Given the description of an element on the screen output the (x, y) to click on. 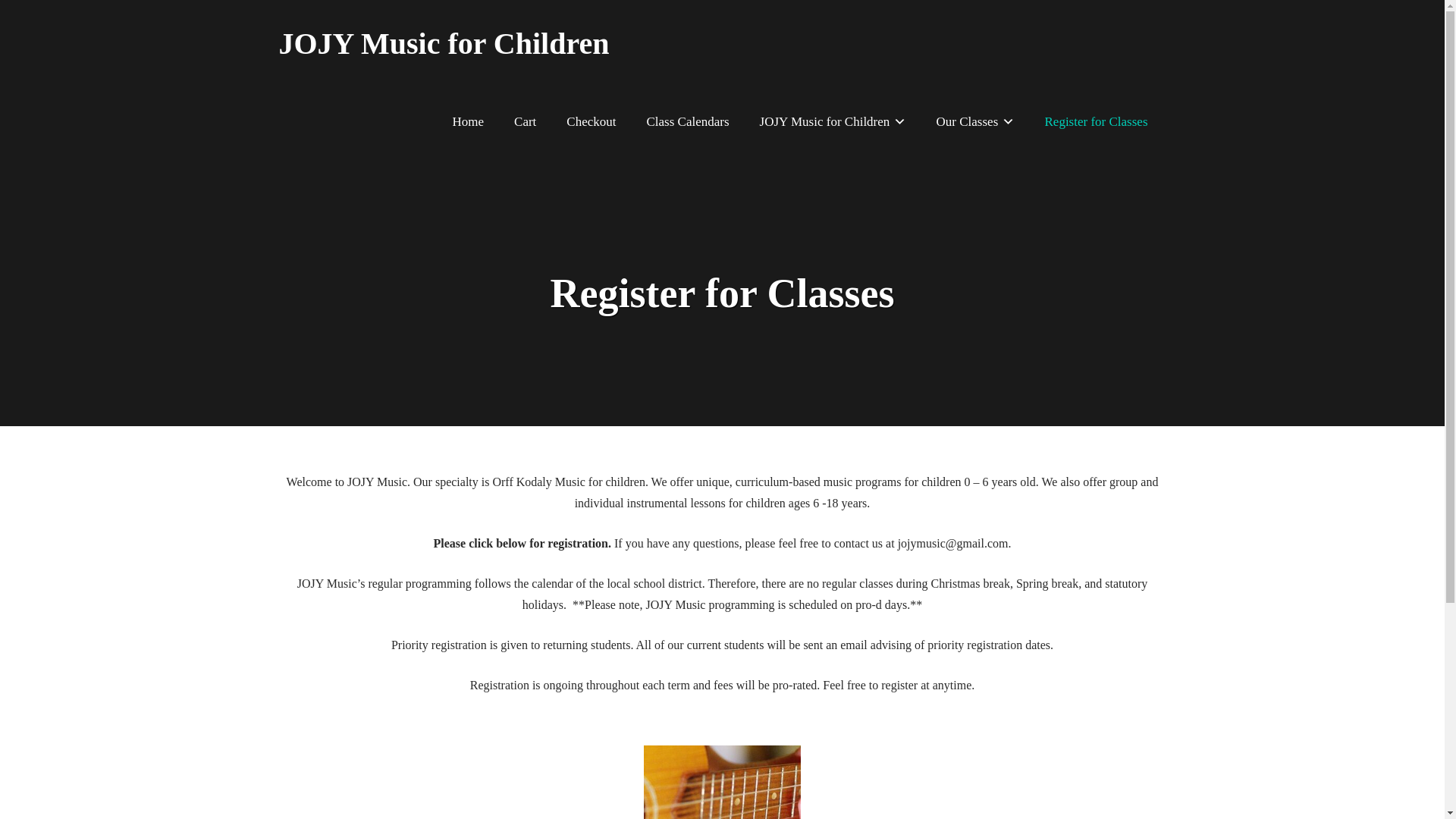
JOJY Music for Children (832, 121)
Register for Classes (1088, 121)
Class Calendars (687, 121)
Checkout (590, 121)
JOJY Music for Children (444, 43)
Our Classes (975, 121)
